Given the description of an element on the screen output the (x, y) to click on. 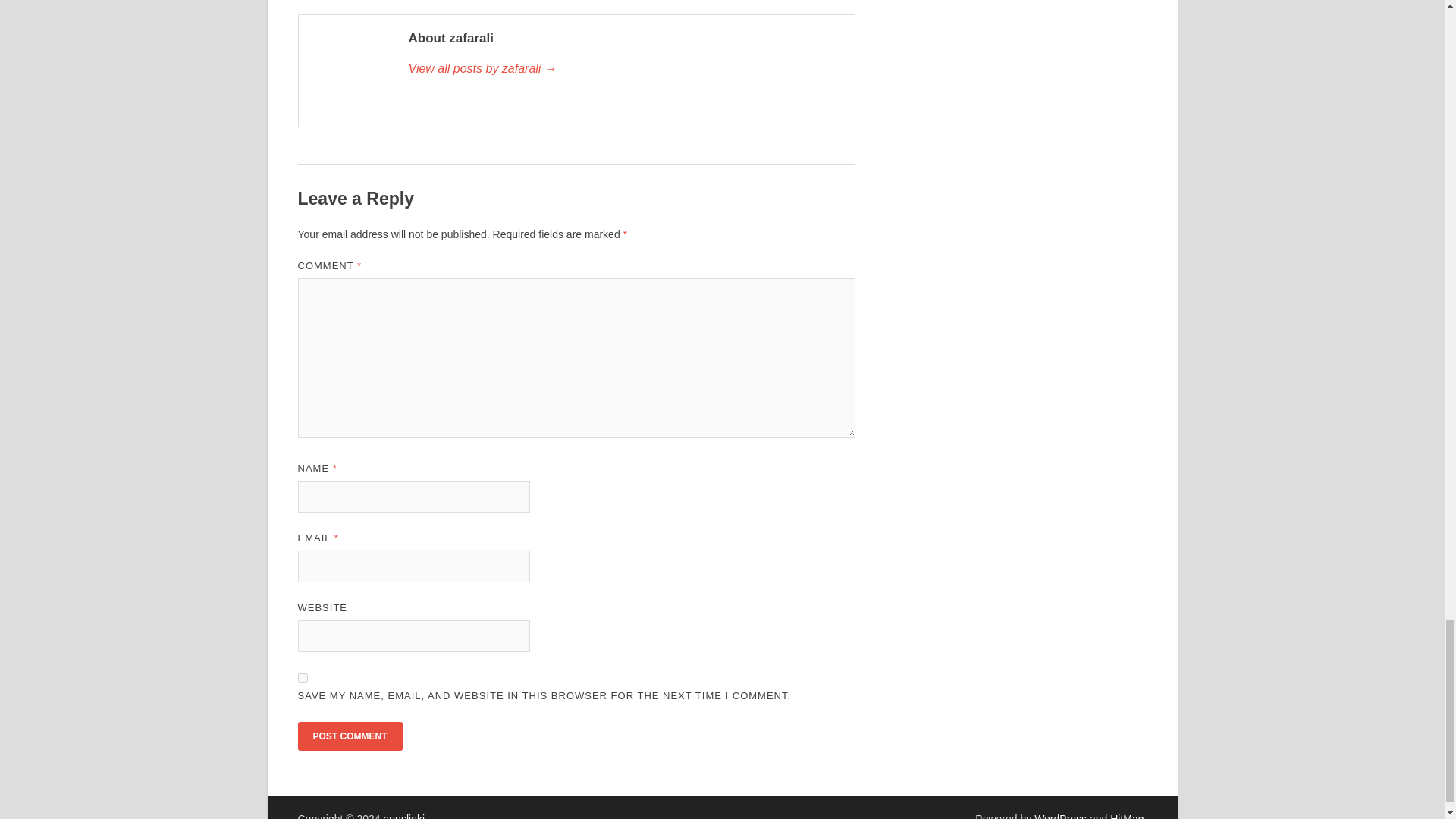
zafarali (622, 68)
Post Comment (349, 736)
Post Comment (349, 736)
yes (302, 678)
